Given the description of an element on the screen output the (x, y) to click on. 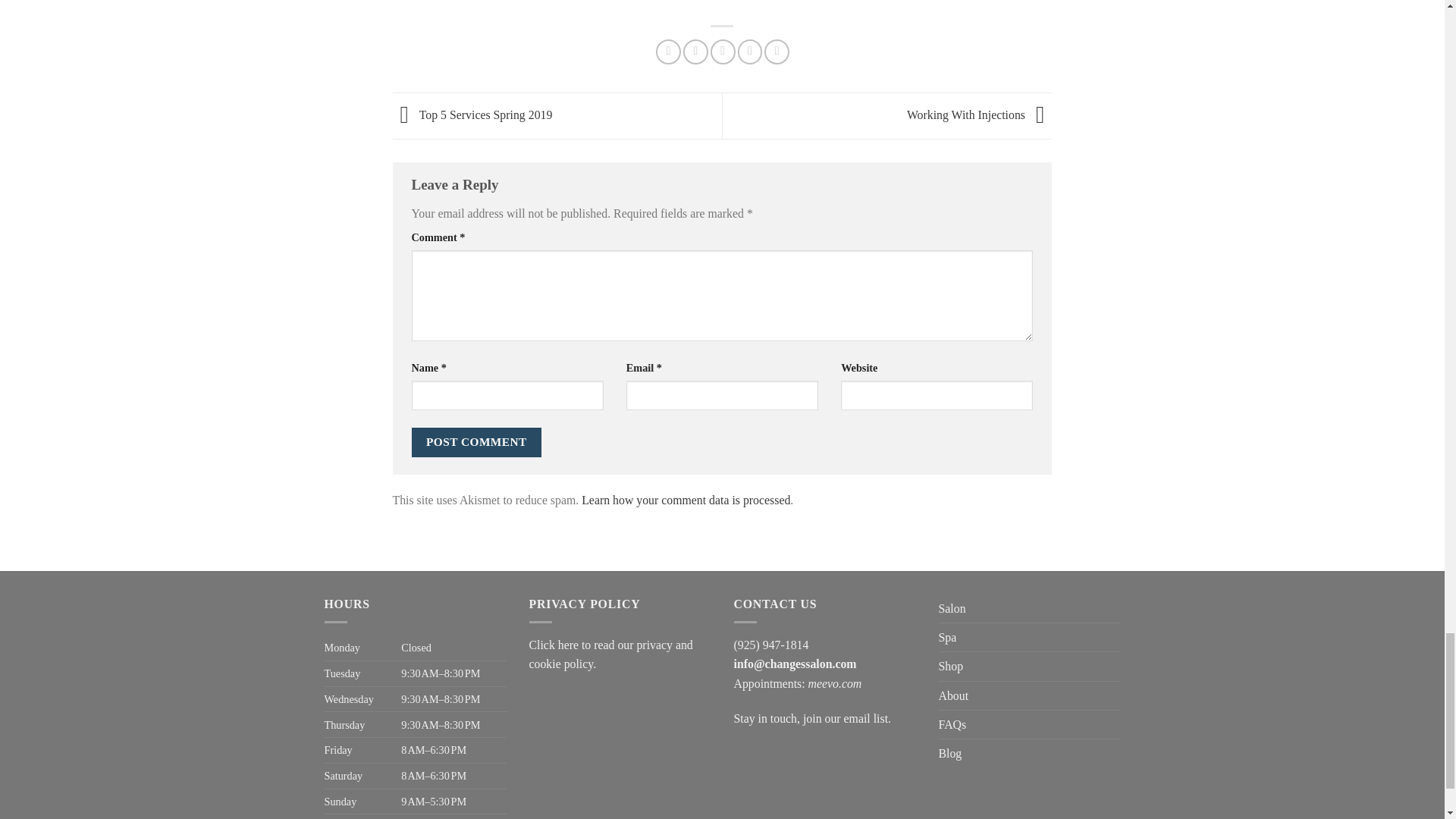
Email to a Friend (722, 51)
Share on Twitter (694, 51)
Pin on Pinterest (750, 51)
Share on Facebook (668, 51)
Share on LinkedIn (776, 51)
Post Comment (475, 442)
